Given the description of an element on the screen output the (x, y) to click on. 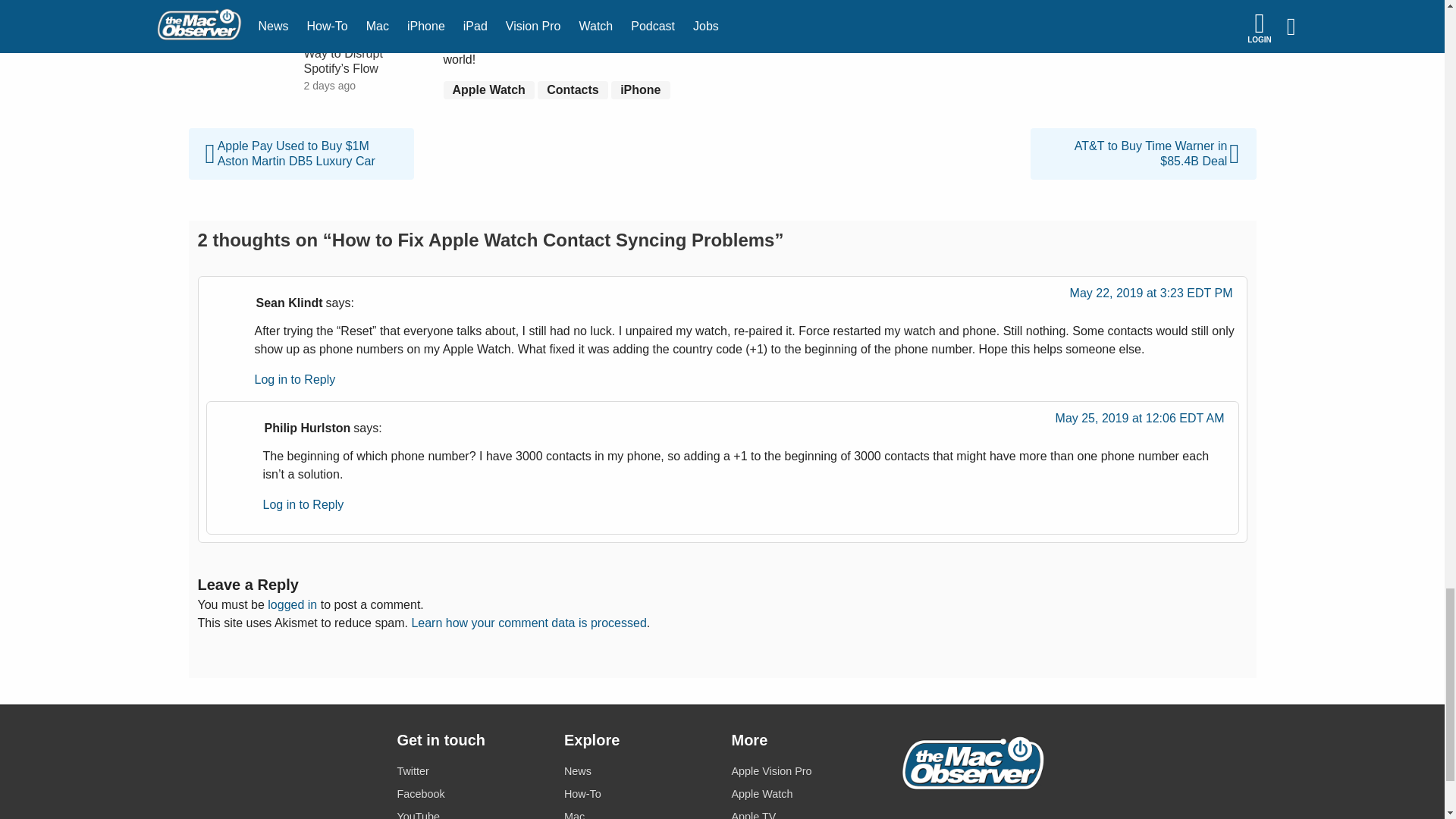
Log in to Reply (295, 379)
May 22, 2019 at 3:23 EDT PM (1151, 297)
logged in (292, 604)
Twitter (471, 771)
Contacts (572, 90)
YouTube (471, 812)
Log in to Reply (302, 504)
Apple Watch (488, 90)
May 25, 2019 at 12:06 EDT AM (1139, 421)
Facebook (471, 793)
